Given the description of an element on the screen output the (x, y) to click on. 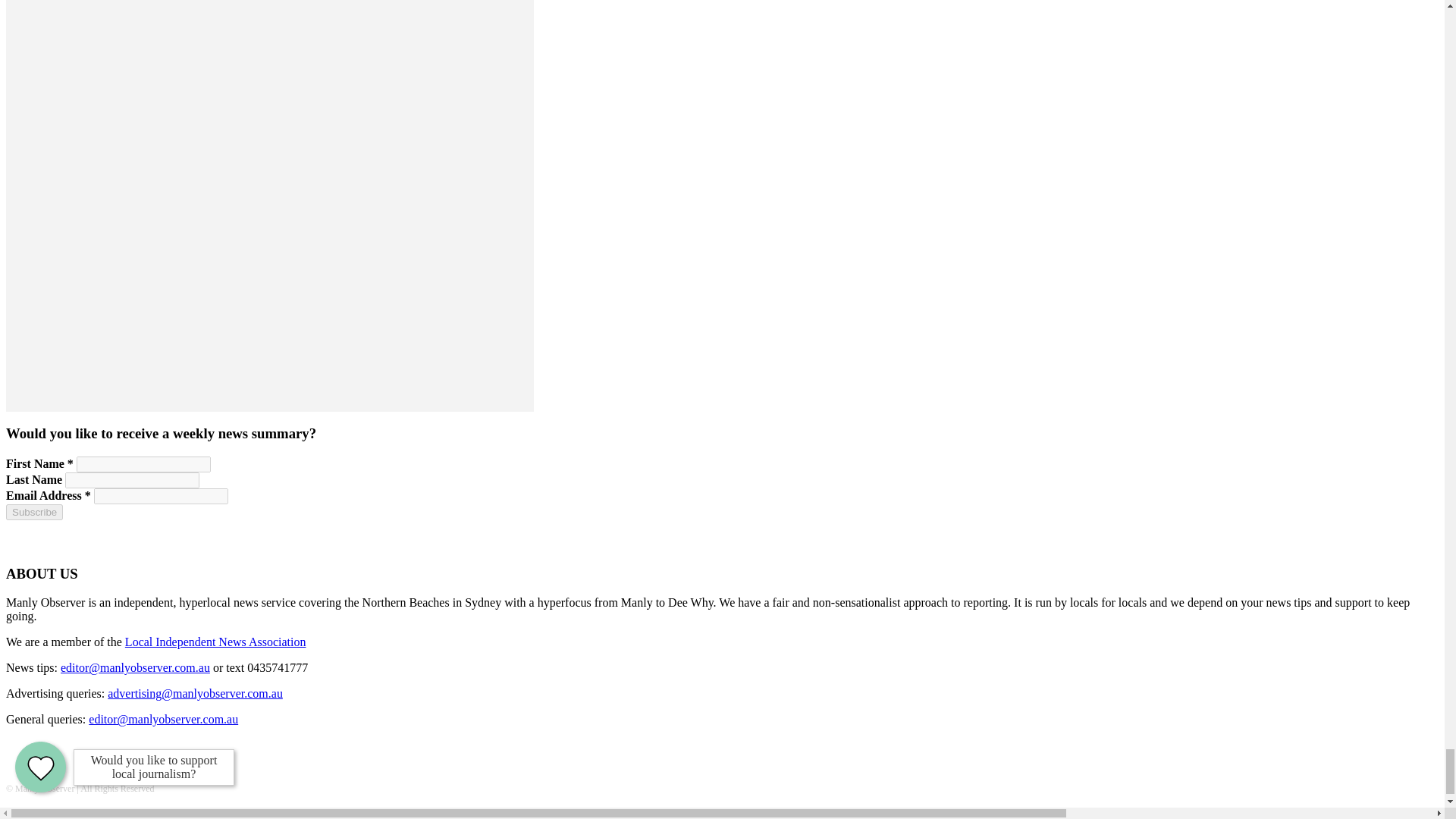
Subscribe (33, 512)
